Given the description of an element on the screen output the (x, y) to click on. 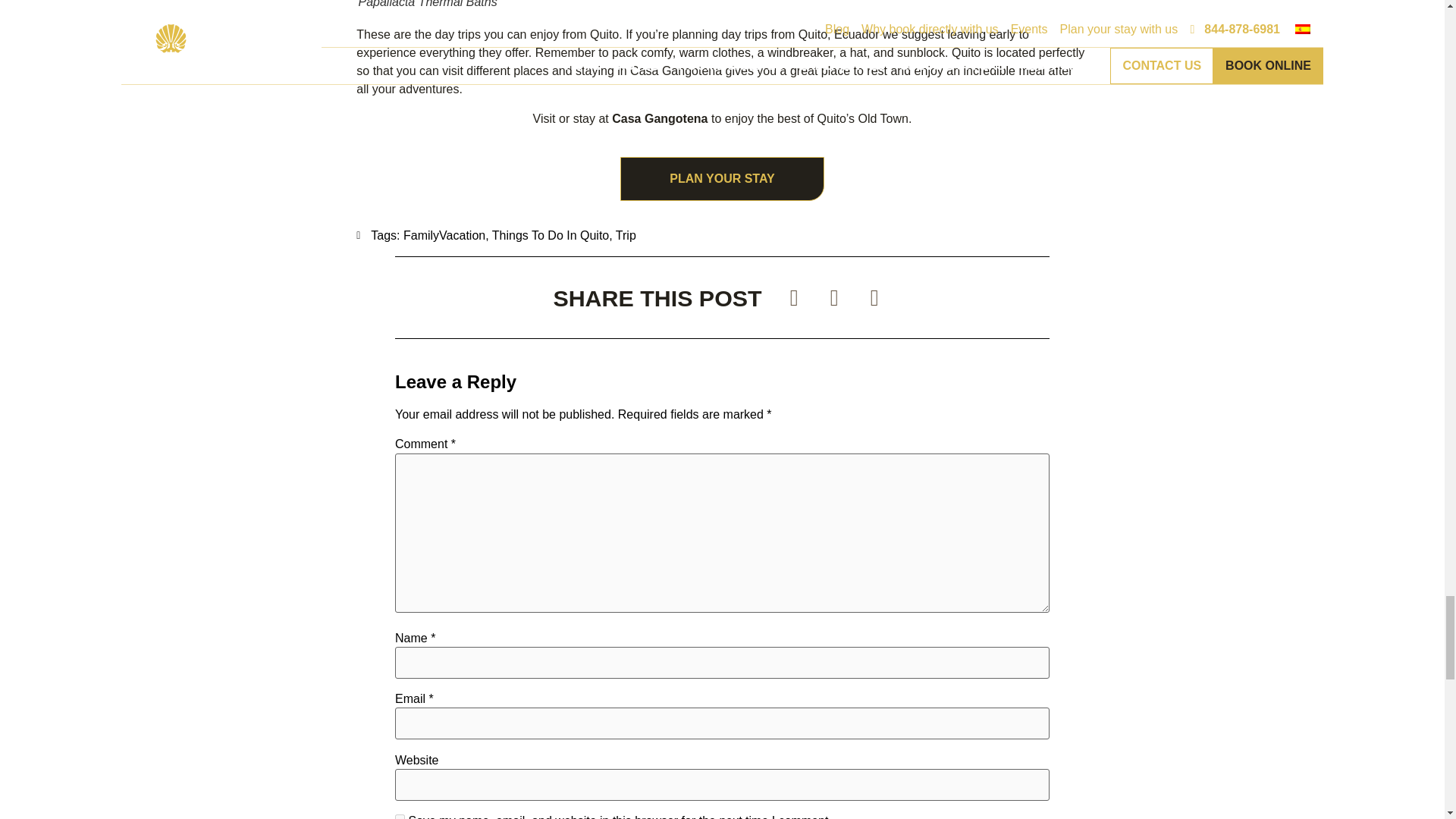
yes (399, 816)
